Given the description of an element on the screen output the (x, y) to click on. 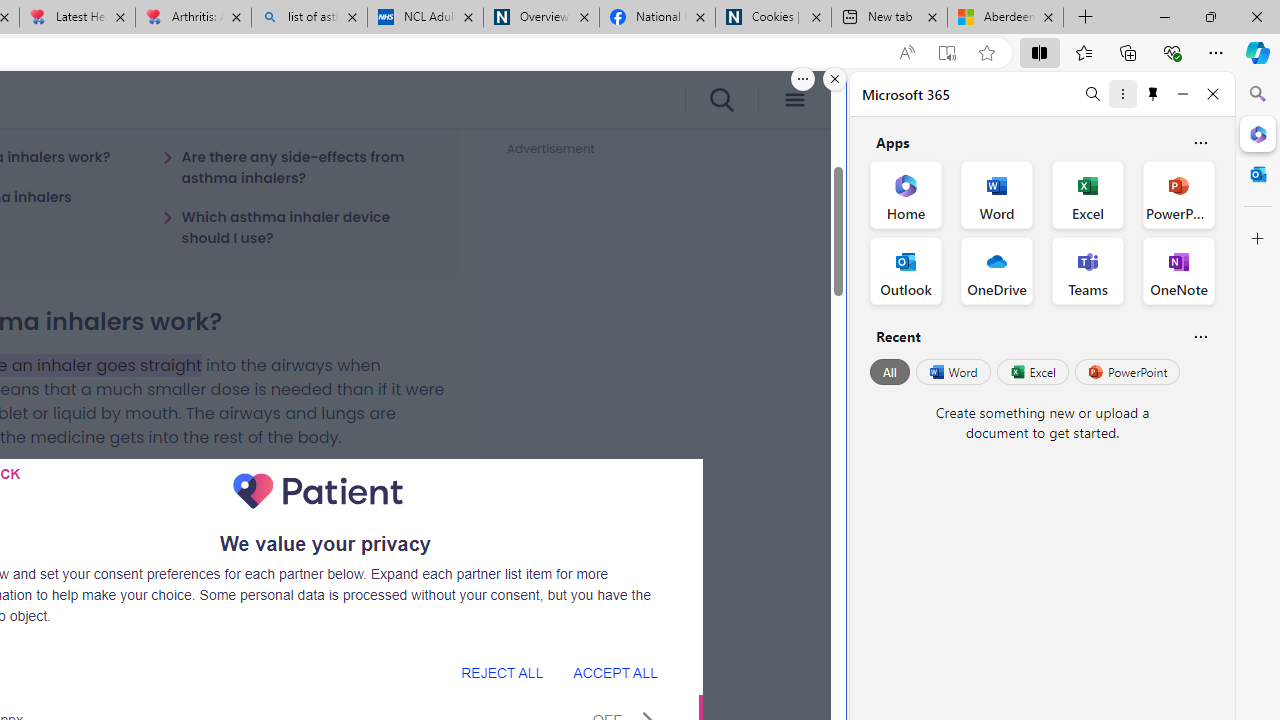
menu icon (793, 99)
Word Office App (996, 194)
Cookies | About | NICE (772, 17)
PowerPoint Office App (1178, 194)
Teams Office App (1087, 270)
All (890, 372)
PowerPoint (1127, 372)
Which asthma inhaler device should I use? (298, 227)
Excel Office App (1087, 194)
Outlook Office App (906, 270)
